Given the description of an element on the screen output the (x, y) to click on. 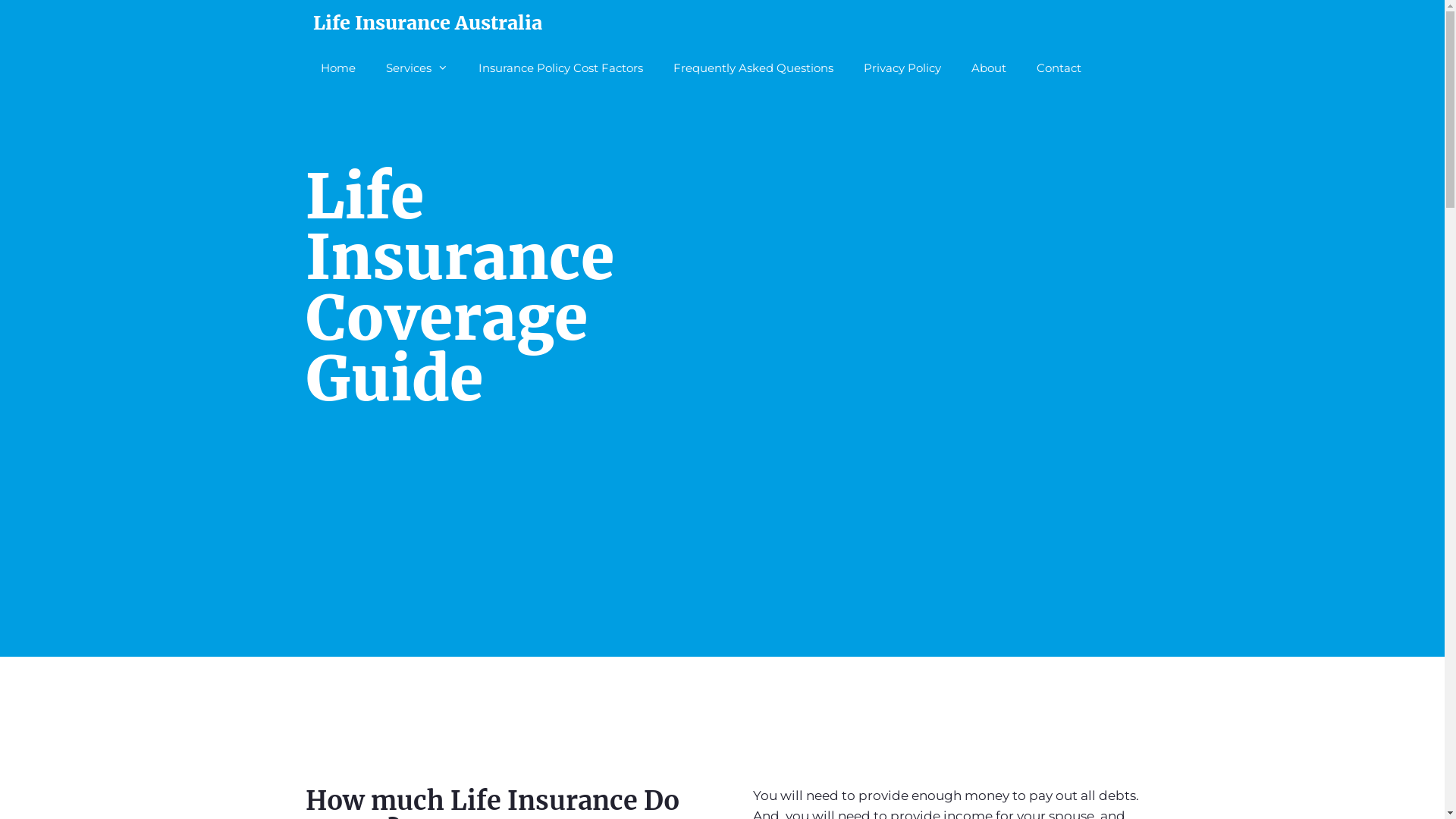
Privacy Policy Element type: text (901, 68)
Contact Element type: text (1057, 68)
Frequently Asked Questions Element type: text (753, 68)
Life Insurance Australia Element type: text (426, 22)
About Element type: text (987, 68)
Home Element type: text (337, 68)
Insurance Policy Cost Factors Element type: text (559, 68)
Services Element type: text (416, 68)
